Given the description of an element on the screen output the (x, y) to click on. 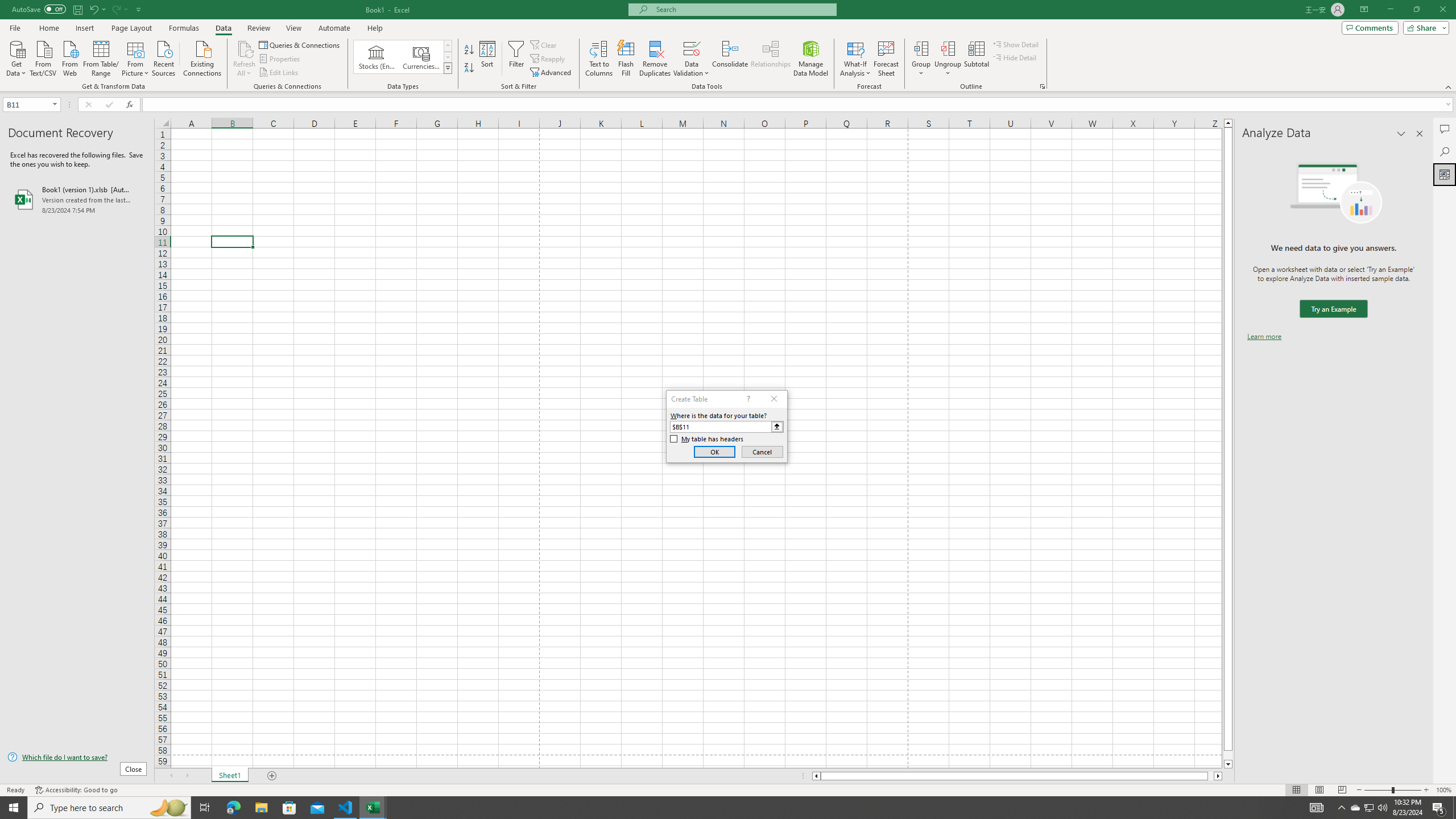
Analyze Data (1444, 173)
Remove Duplicates (654, 58)
From Table/Range (100, 57)
